Given the description of an element on the screen output the (x, y) to click on. 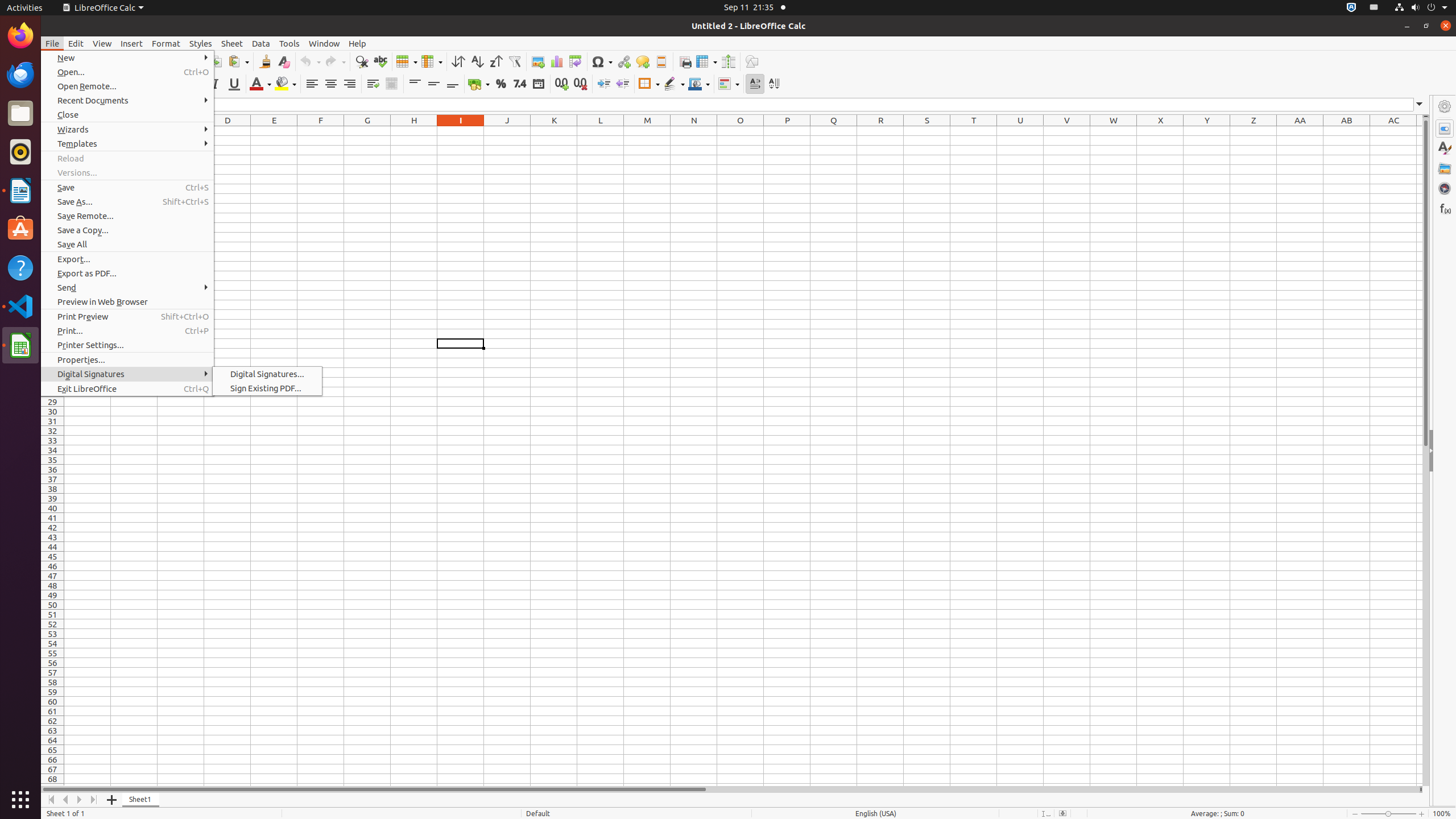
New Element type: menu (126, 57)
V1 Element type: table-cell (1066, 130)
F1 Element type: table-cell (320, 130)
Preview in Web Browser Element type: menu-item (126, 301)
